Given the description of an element on the screen output the (x, y) to click on. 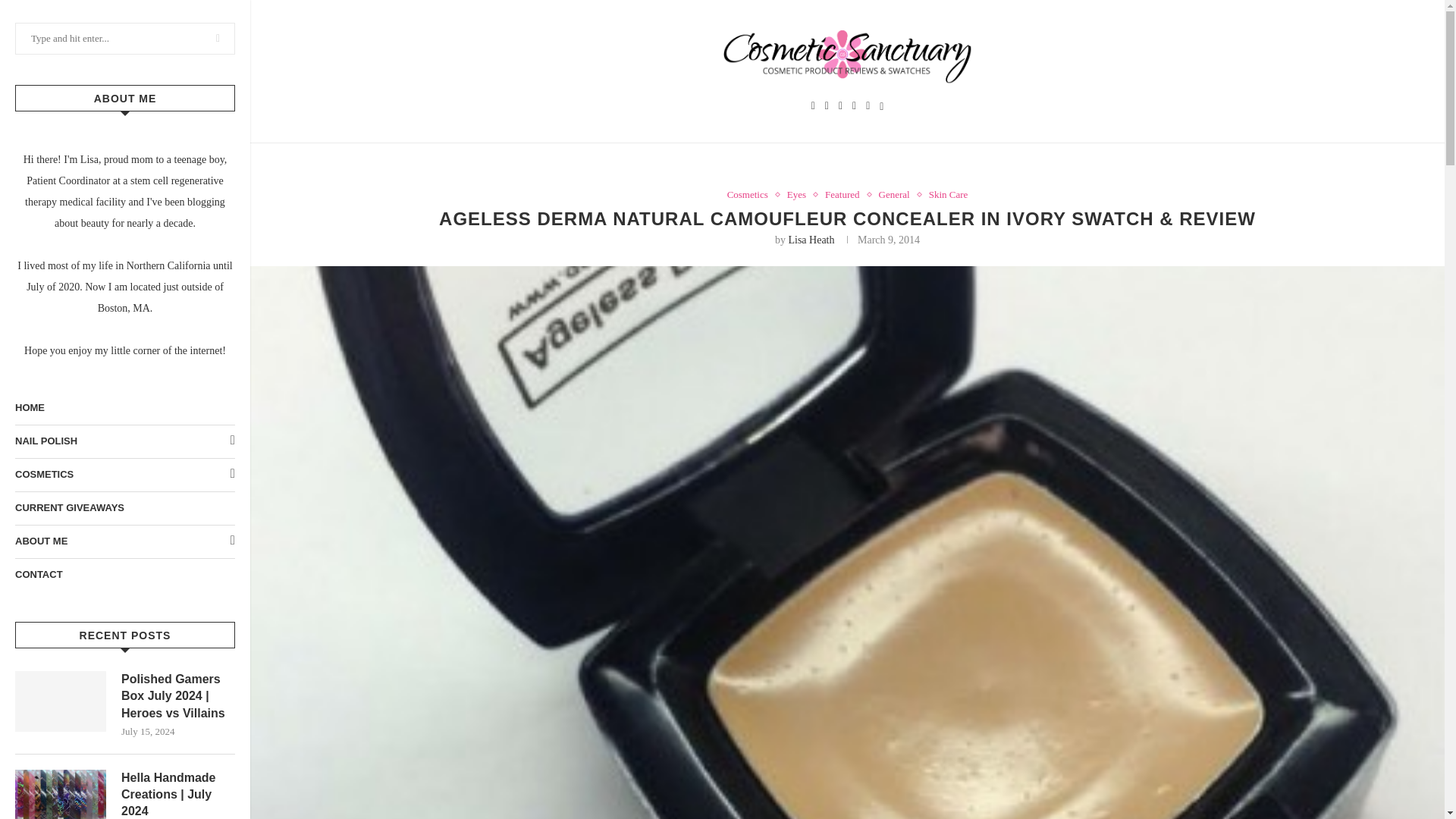
ABOUT ME (124, 541)
CURRENT GIVEAWAYS (124, 508)
CONTACT (124, 574)
HOME (124, 408)
COSMETICS (124, 474)
NAIL POLISH (124, 441)
